Given the description of an element on the screen output the (x, y) to click on. 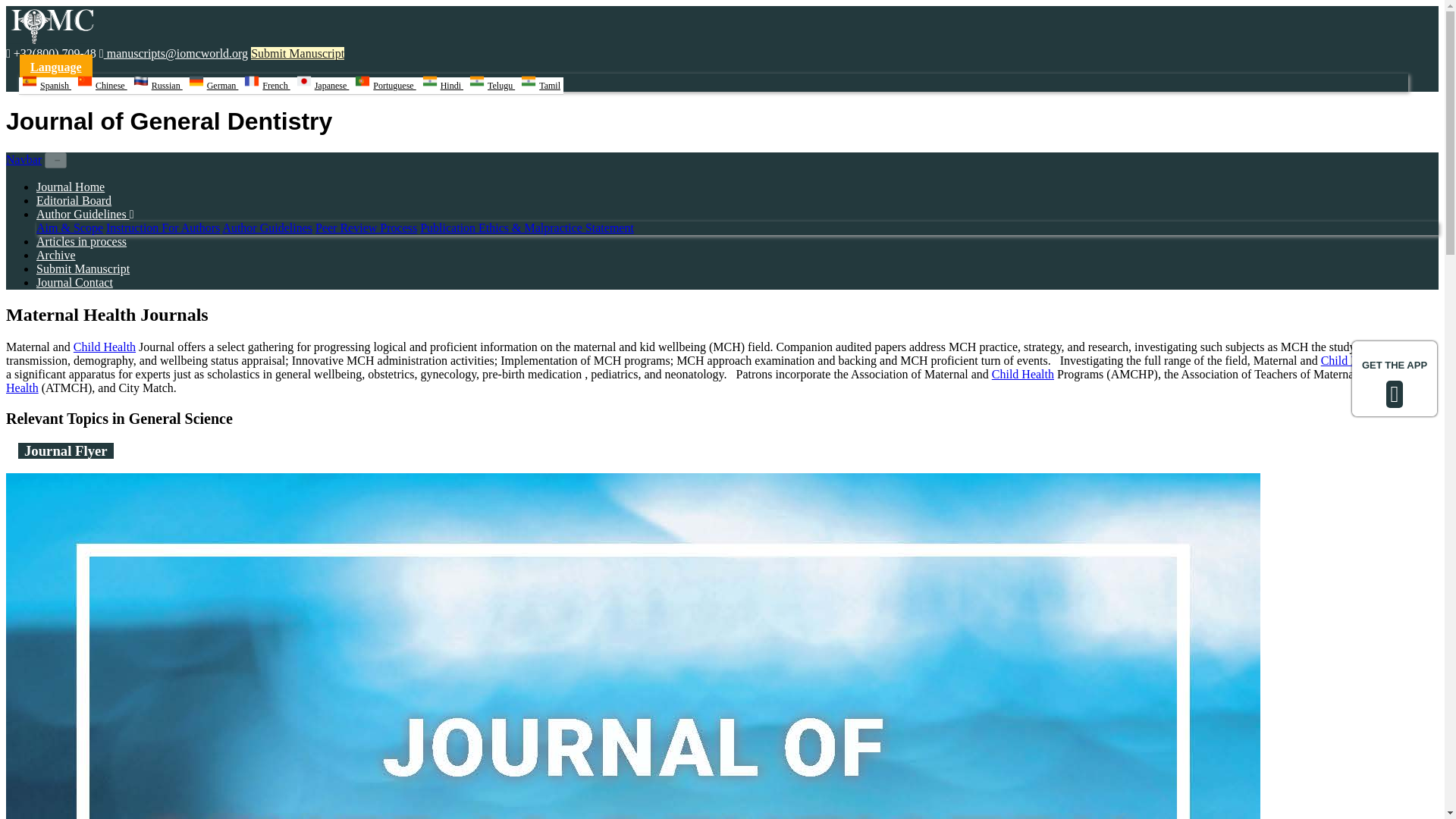
Peer Review Process (365, 227)
Japanese (323, 85)
Child Health (706, 380)
Navbar (23, 159)
Tamil (540, 85)
Archive (55, 254)
Telugu (491, 85)
German (213, 85)
Instruction For Authors (162, 227)
Tamil (540, 85)
Hindi (442, 85)
Author Guidelines (267, 227)
Archive (55, 254)
Language (56, 66)
Author Guidelines (84, 214)
